Given the description of an element on the screen output the (x, y) to click on. 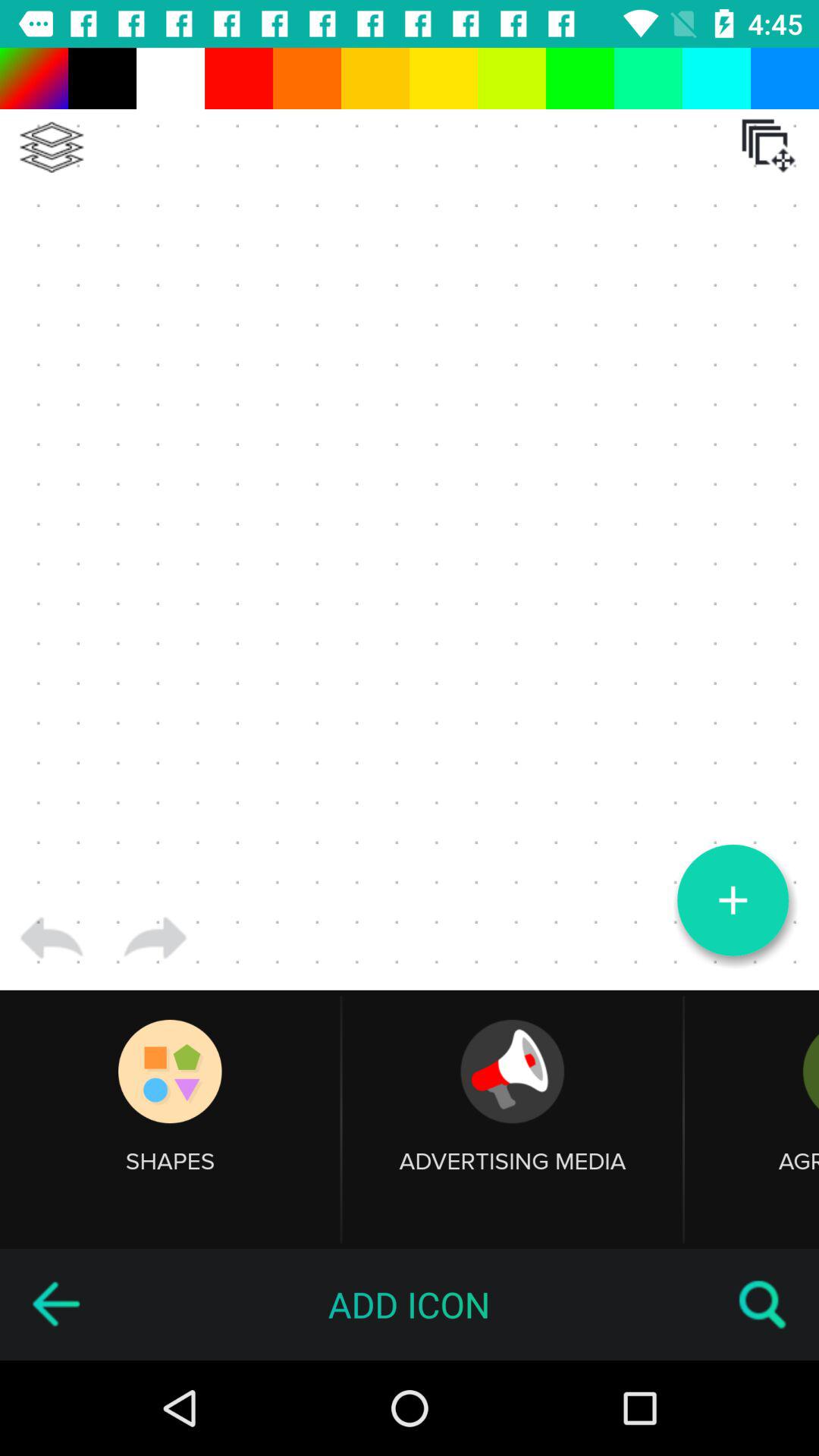
add item (733, 900)
